Given the description of an element on the screen output the (x, y) to click on. 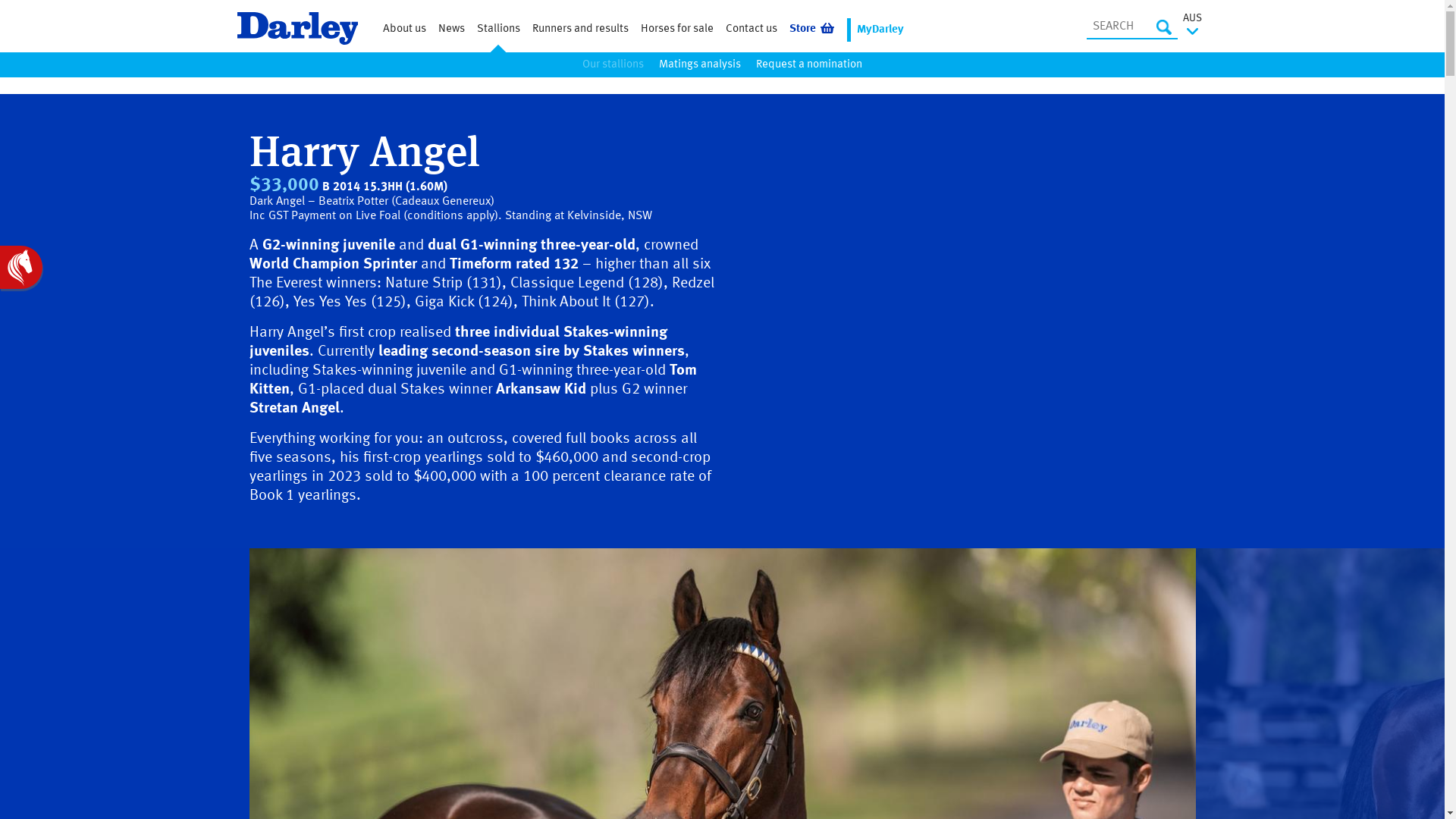
Matings analysis Element type: text (699, 64)
Enter the terms you wish to search for. Element type: hover (1130, 27)
Contact us Element type: text (750, 29)
MyDarley Element type: text (879, 29)
Horses for sale Element type: text (676, 29)
Skip to main content Element type: text (0, 96)
News Element type: text (451, 29)
Search Element type: text (1162, 26)
Request a nomination Element type: text (809, 64)
Stallions Element type: text (497, 29)
Our stallions Element type: text (612, 64)
Store Element type: text (811, 29)
About us Element type: text (403, 29)
Runners and results Element type: text (580, 29)
